Given the description of an element on the screen output the (x, y) to click on. 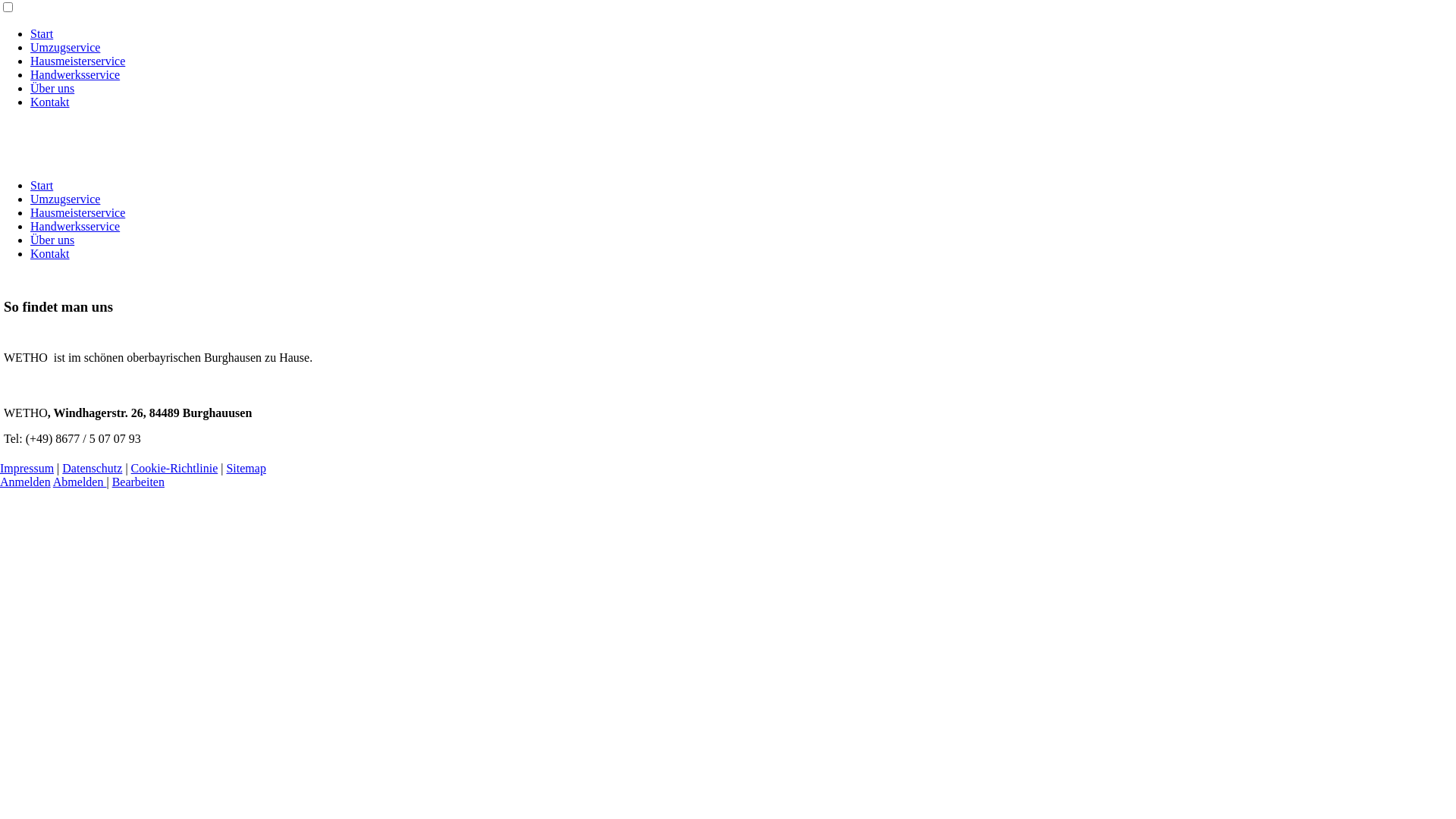
Bearbeiten Element type: text (138, 481)
Impressum Element type: text (26, 467)
Kontakt Element type: text (49, 253)
Umzugservice Element type: text (65, 46)
Datenschutz Element type: text (92, 467)
Start Element type: text (41, 184)
Hausmeisterservice Element type: text (77, 60)
Handwerksservice Element type: text (74, 74)
Hausmeisterservice Element type: text (77, 212)
Sitemap Element type: text (245, 467)
Handwerksservice Element type: text (74, 225)
Kontakt Element type: text (49, 101)
Cookie-Richtlinie Element type: text (174, 467)
Umzugservice Element type: text (65, 198)
Abmelden Element type: text (79, 481)
Start Element type: text (41, 33)
Anmelden Element type: text (25, 481)
